Given the description of an element on the screen output the (x, y) to click on. 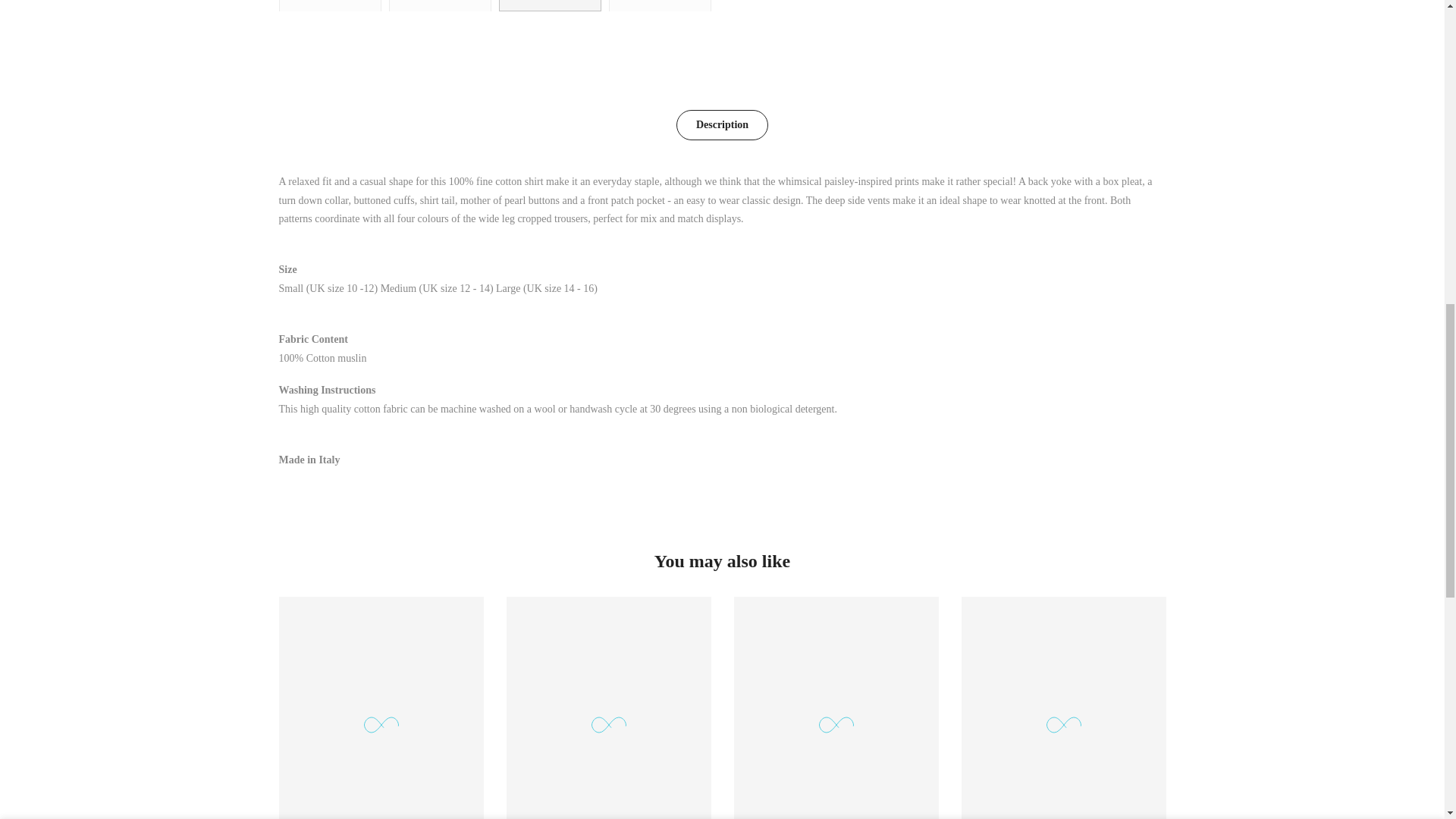
1 (1001, 35)
Description (722, 124)
